Given the description of an element on the screen output the (x, y) to click on. 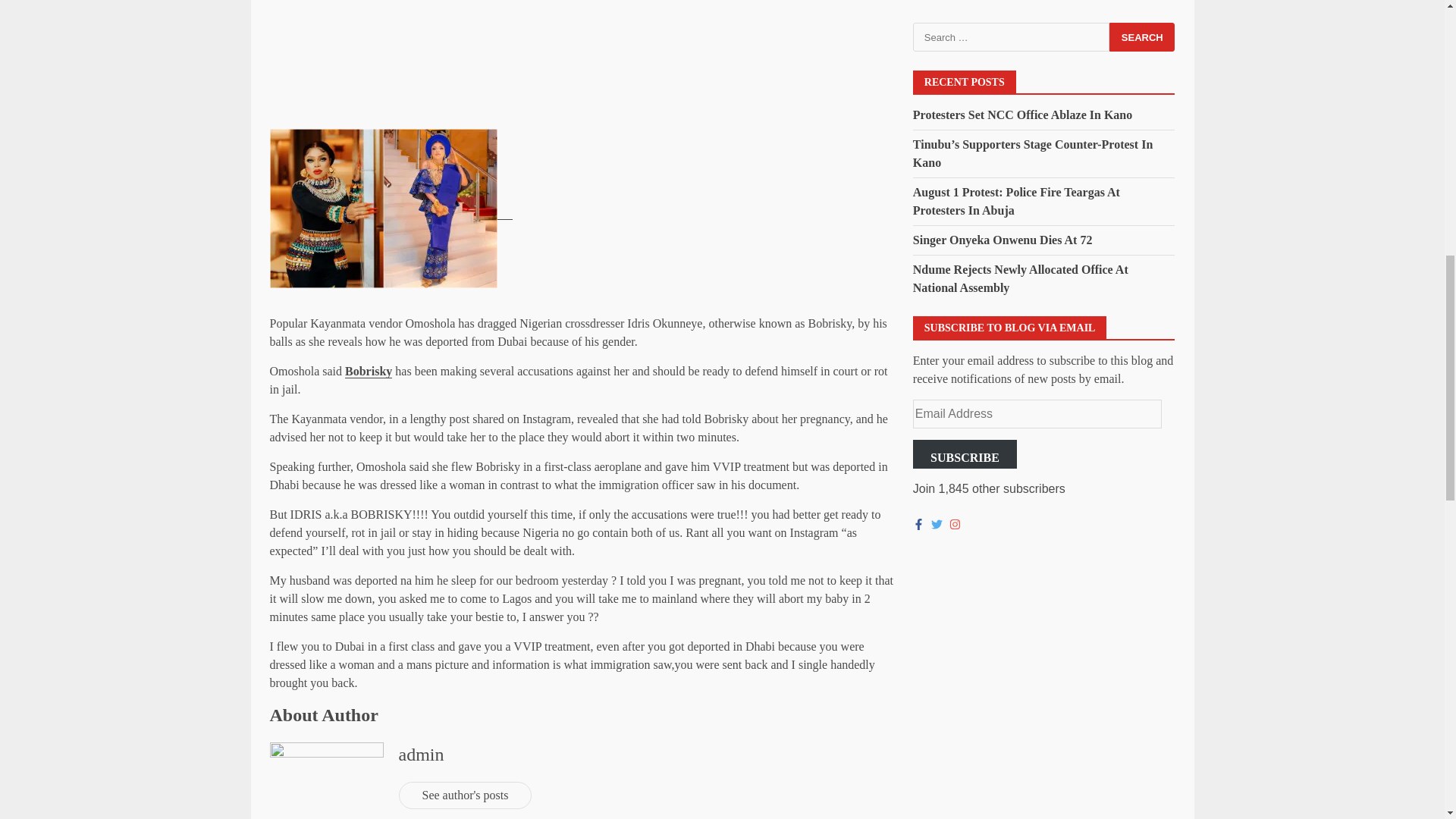
See author's posts (465, 795)
admin (421, 754)
Bobrisky (368, 371)
